Given the description of an element on the screen output the (x, y) to click on. 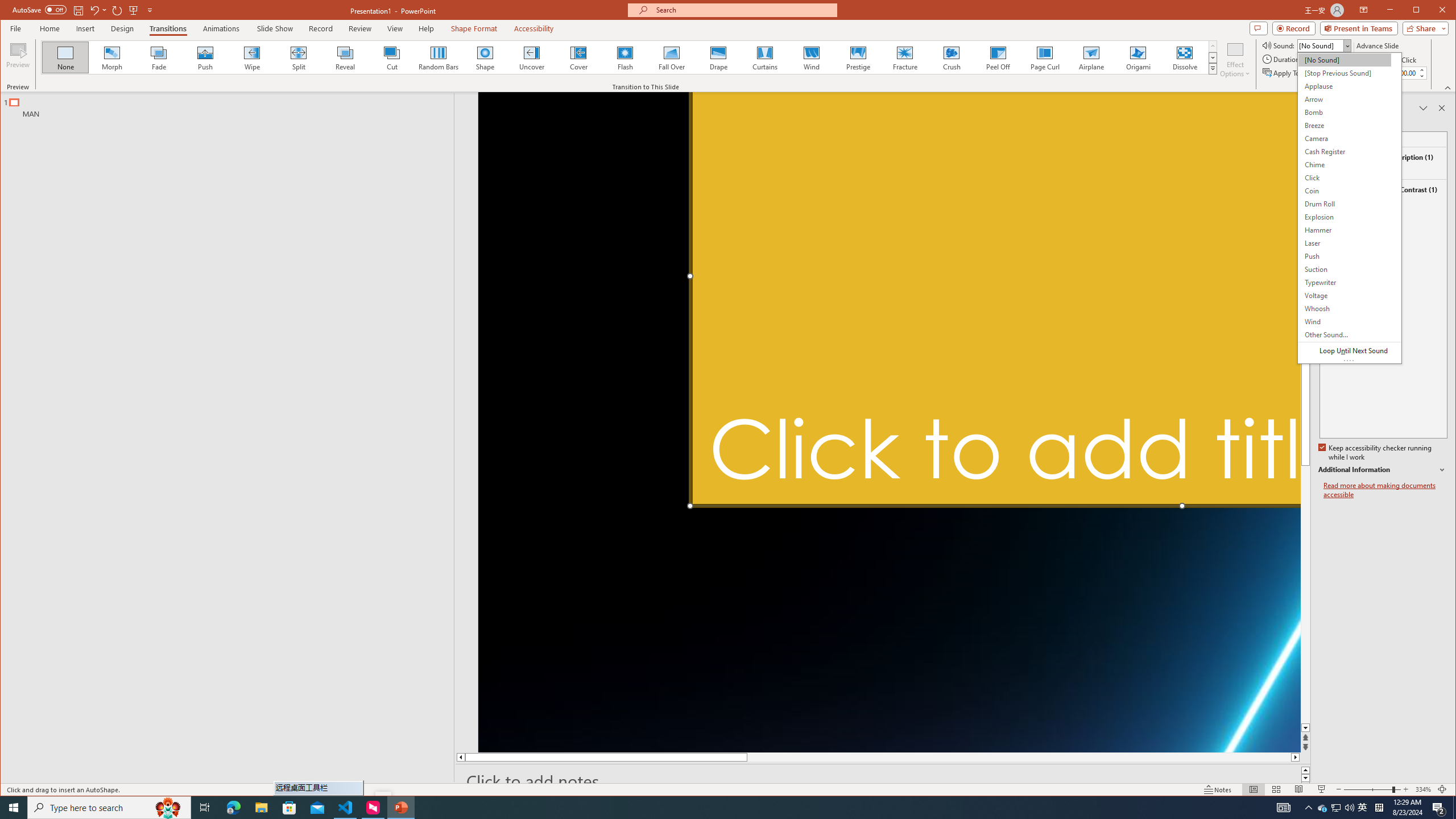
Comments (1258, 28)
More Options (105, 9)
Start (13, 807)
Insert (85, 28)
Design (122, 28)
Maximize (1432, 11)
Dissolve (1184, 57)
Push (205, 57)
Transitions (167, 28)
Morph (111, 57)
Close pane (1441, 107)
Additional Information (1382, 469)
Fracture (904, 57)
Notes  (1217, 789)
